Given the description of an element on the screen output the (x, y) to click on. 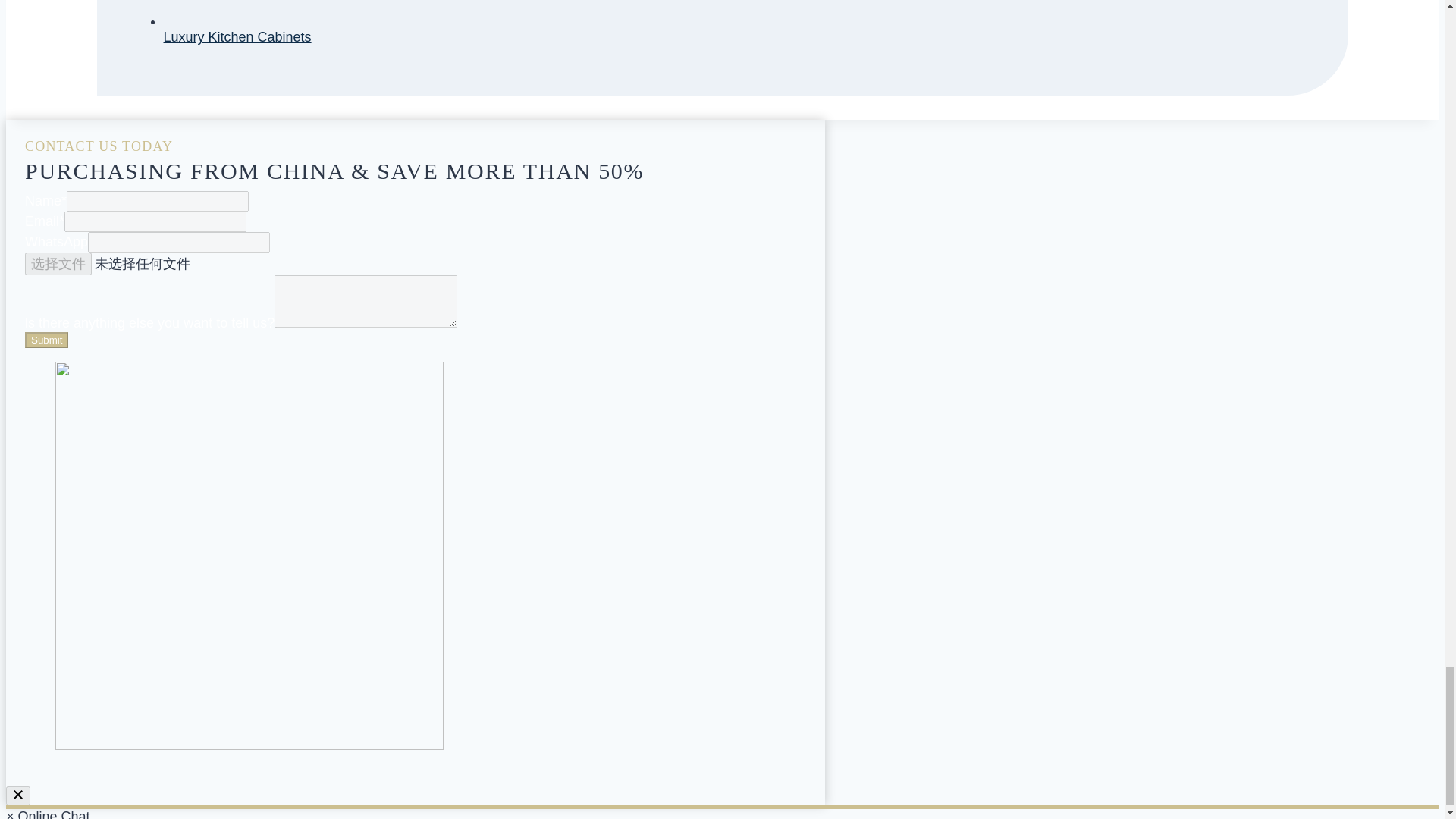
Luxury Kitchen Cabinets (237, 37)
Submit (46, 340)
